Given the description of an element on the screen output the (x, y) to click on. 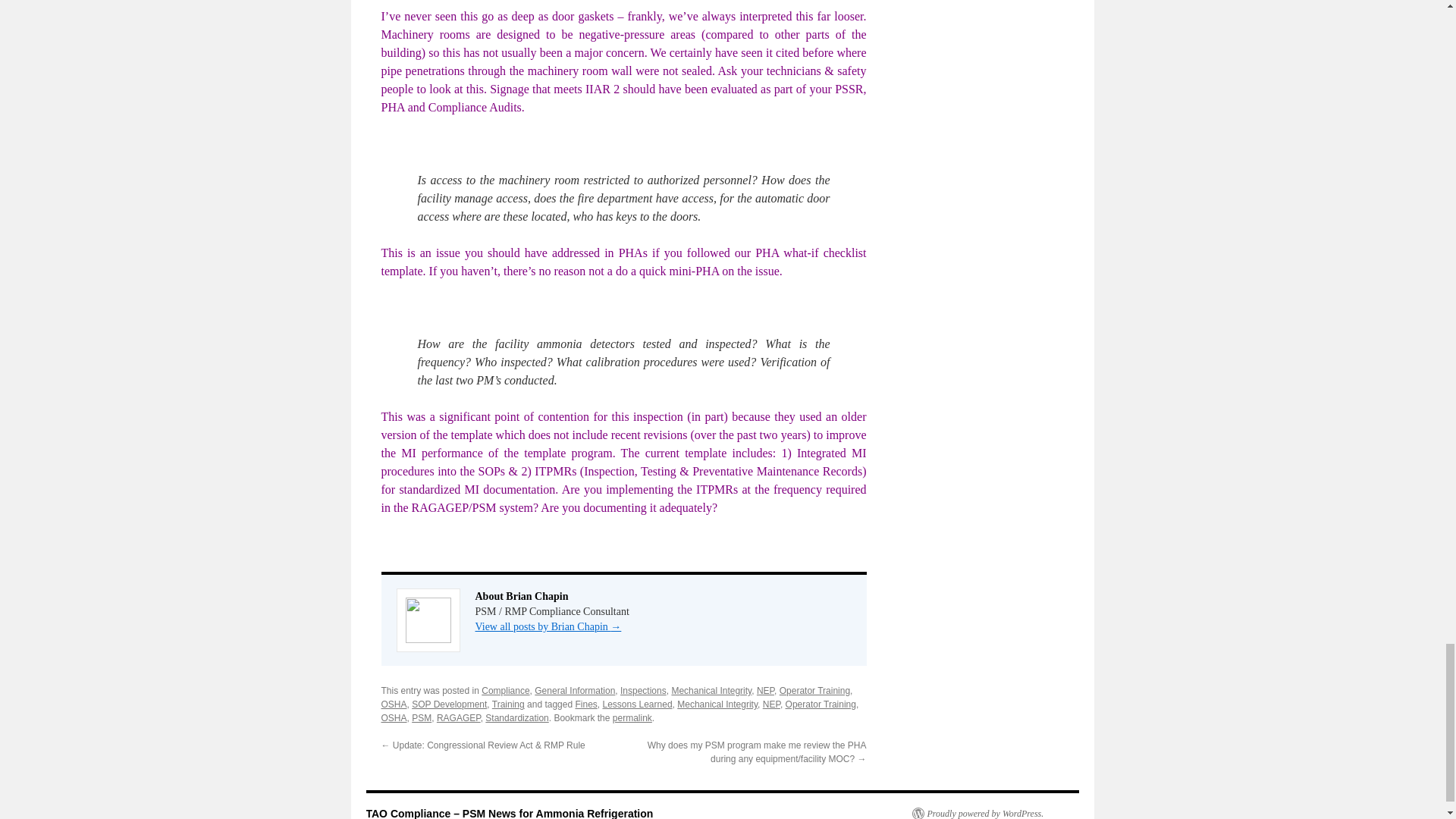
Fines (585, 704)
Mechanical Integrity (717, 704)
PSM (421, 717)
Compliance (505, 690)
OSHA (393, 704)
Standardization (516, 717)
Operator Training (821, 704)
Training (508, 704)
General Information (574, 690)
Mechanical Integrity (711, 690)
permalink (632, 717)
Operator Training (814, 690)
NEP (771, 704)
Inspections (643, 690)
